Given the description of an element on the screen output the (x, y) to click on. 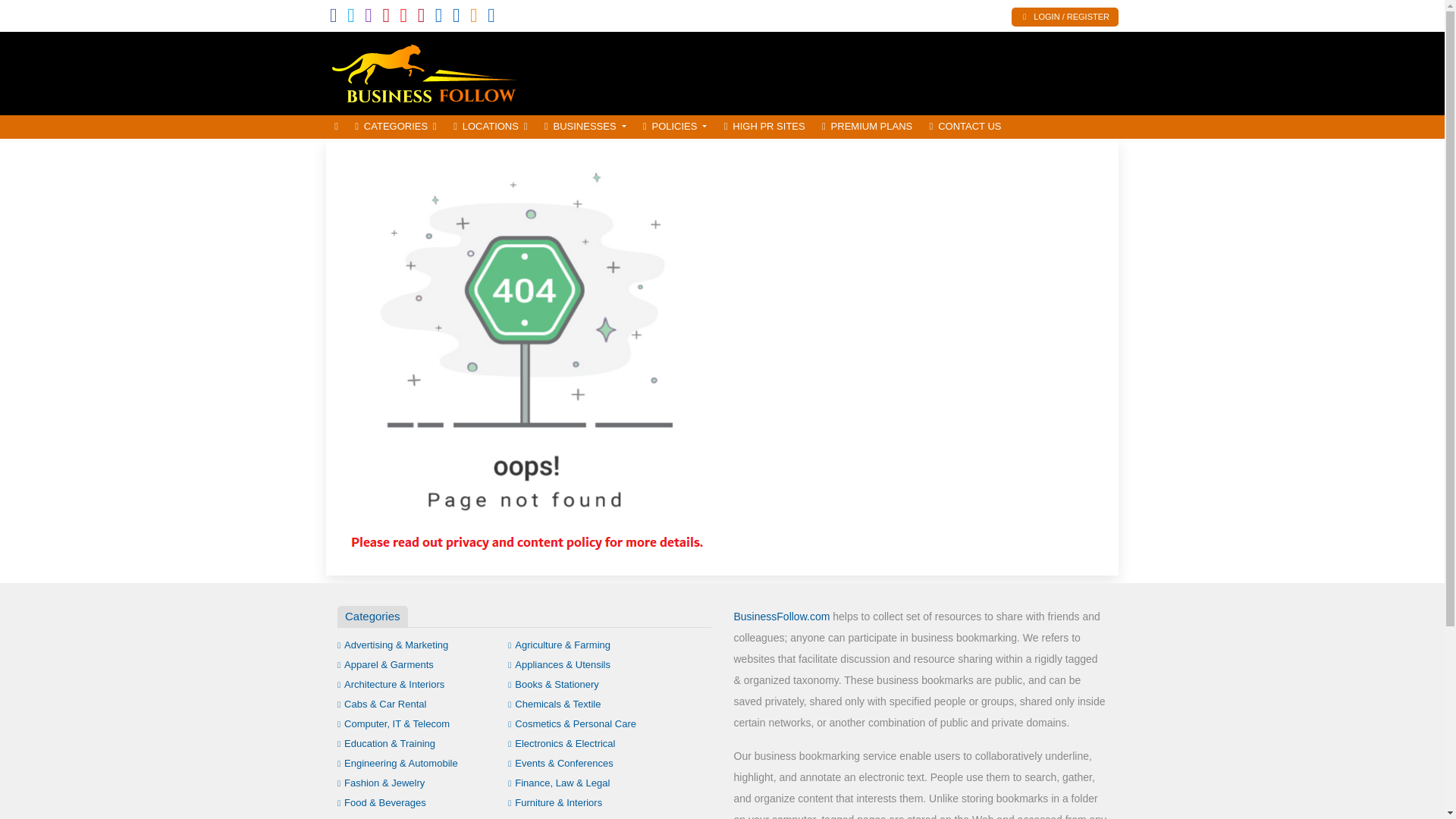
CATEGORIES (395, 126)
Collection of Business News and Social Directories Manager (428, 71)
